Given the description of an element on the screen output the (x, y) to click on. 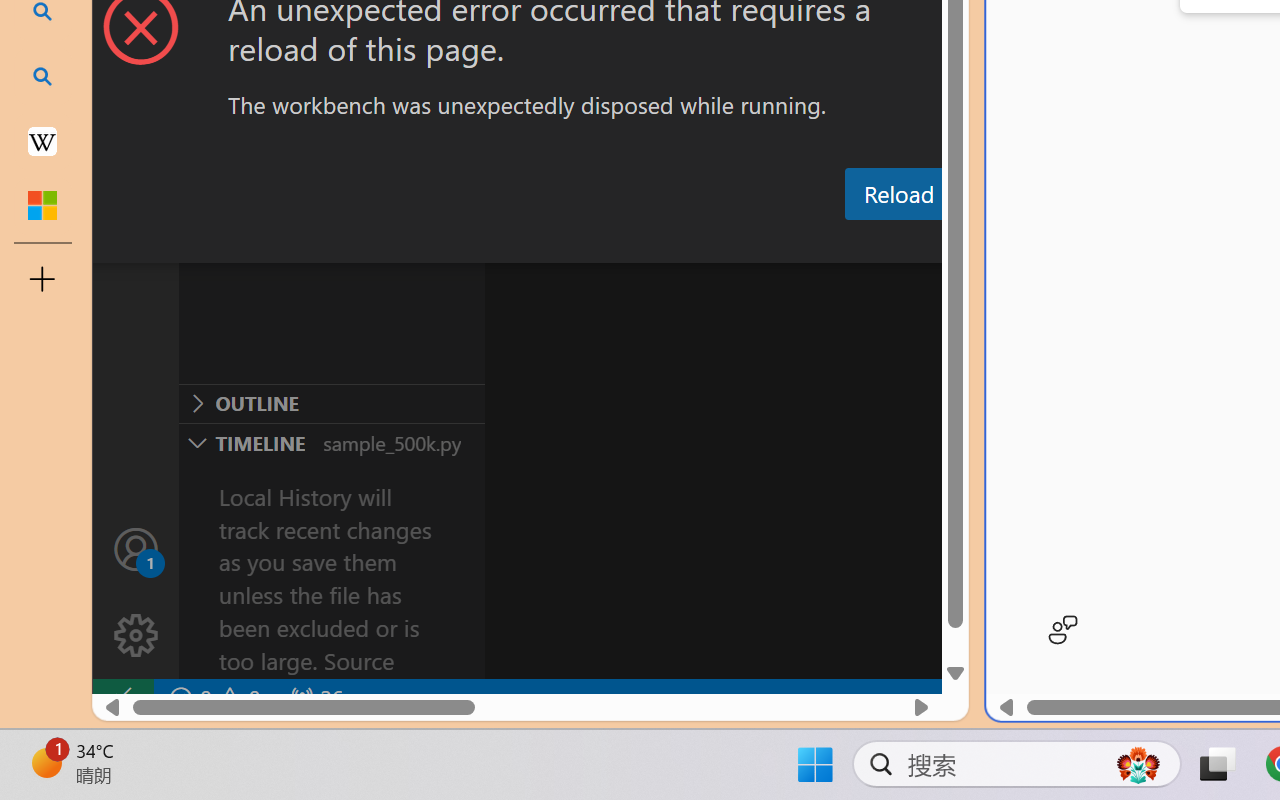
Problems (Ctrl+Shift+M) (567, 243)
Output (Ctrl+Shift+U) (696, 243)
No Problems (212, 698)
Manage (135, 635)
Earth - Wikipedia (42, 140)
Terminal (Ctrl+`) (1021, 243)
